Given the description of an element on the screen output the (x, y) to click on. 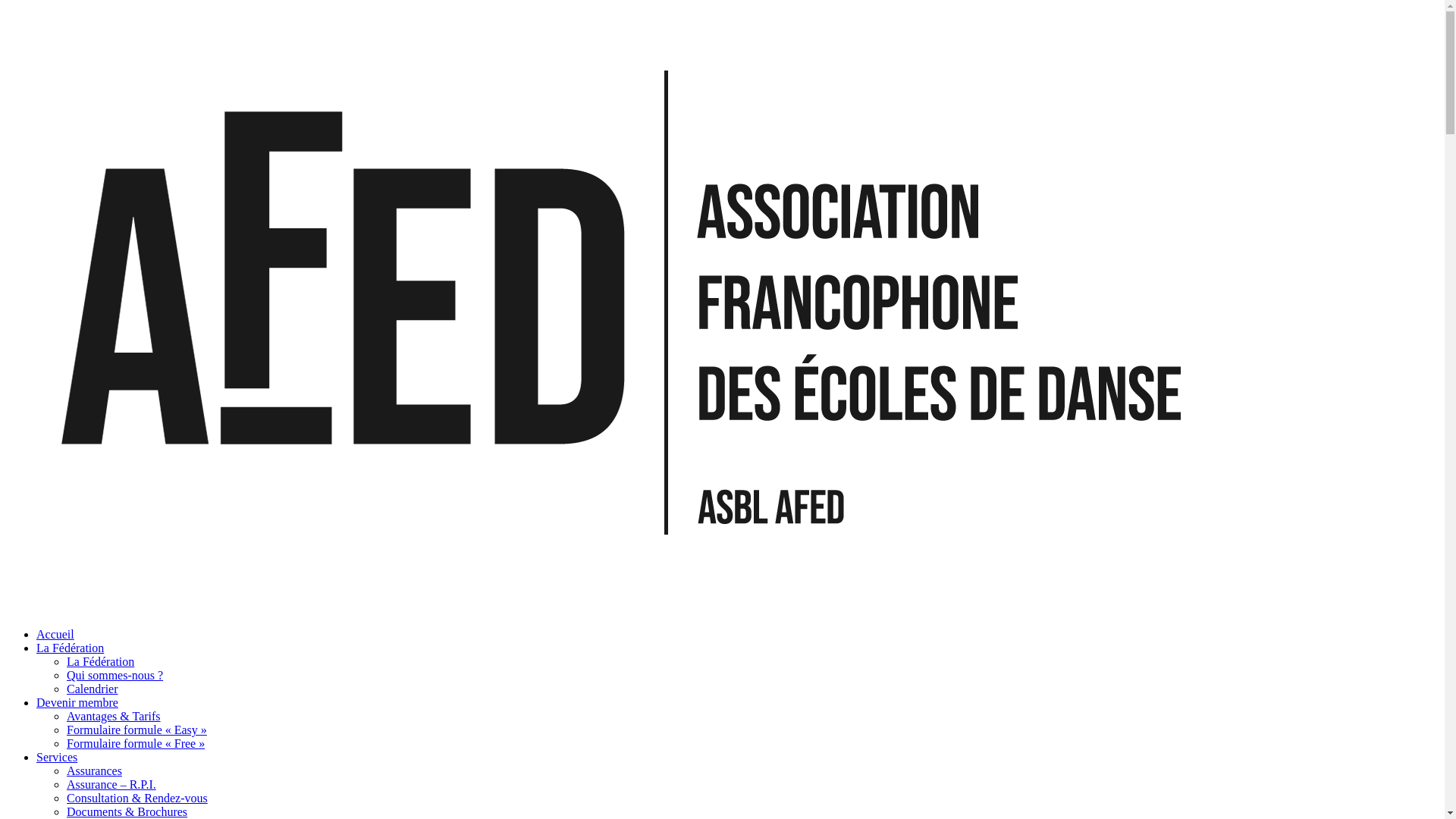
Qui sommes-nous ? Element type: text (114, 674)
Services Element type: text (56, 756)
Documents & Brochures Element type: text (126, 811)
Accueil Element type: text (55, 633)
Assurances Element type: text (94, 770)
Avantages & Tarifs Element type: text (113, 715)
Calendrier Element type: text (92, 688)
Consultation & Rendez-vous Element type: text (136, 797)
Devenir membre Element type: text (77, 702)
